Given the description of an element on the screen output the (x, y) to click on. 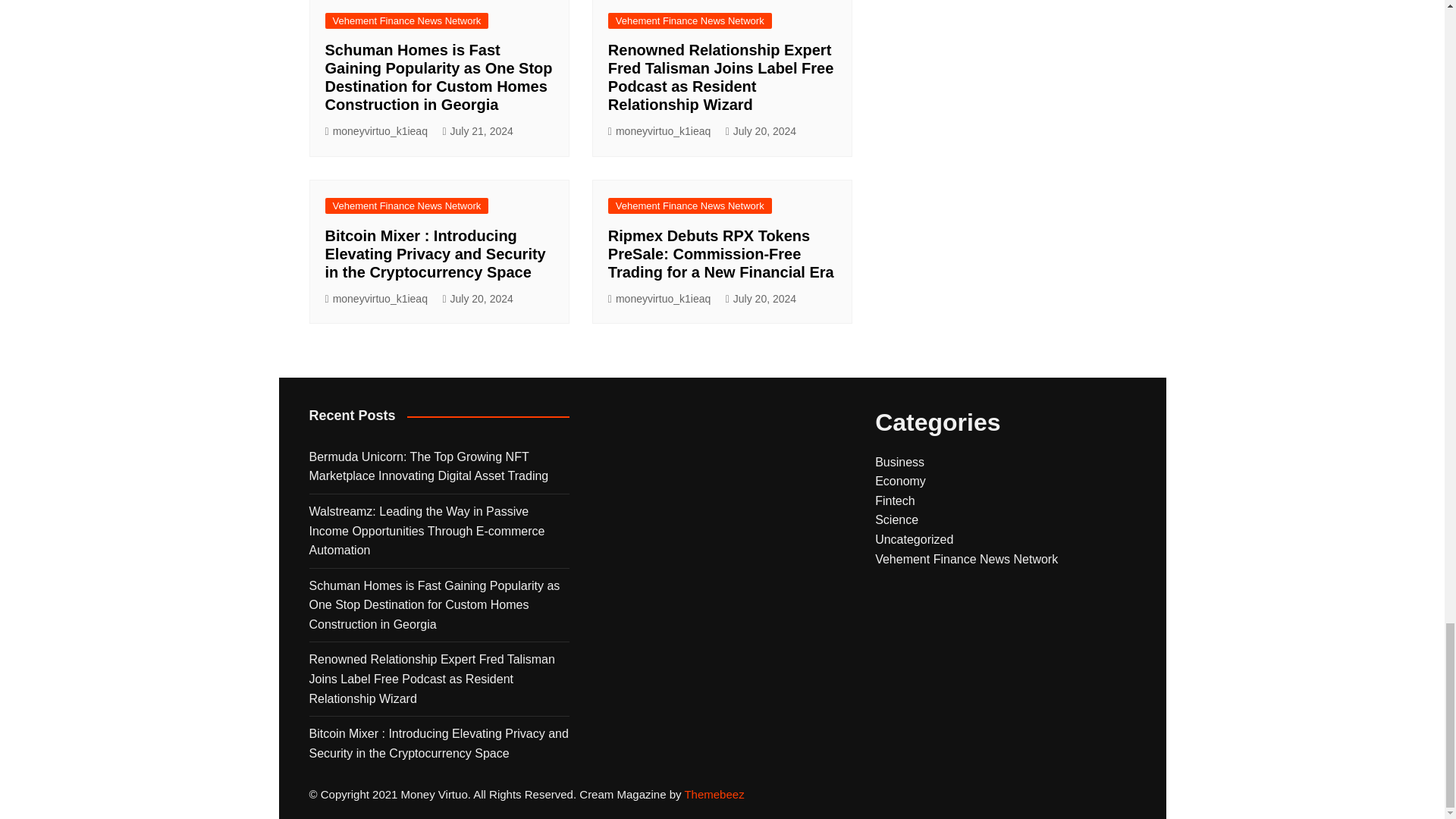
Vehement Finance News Network (405, 20)
